Given the description of an element on the screen output the (x, y) to click on. 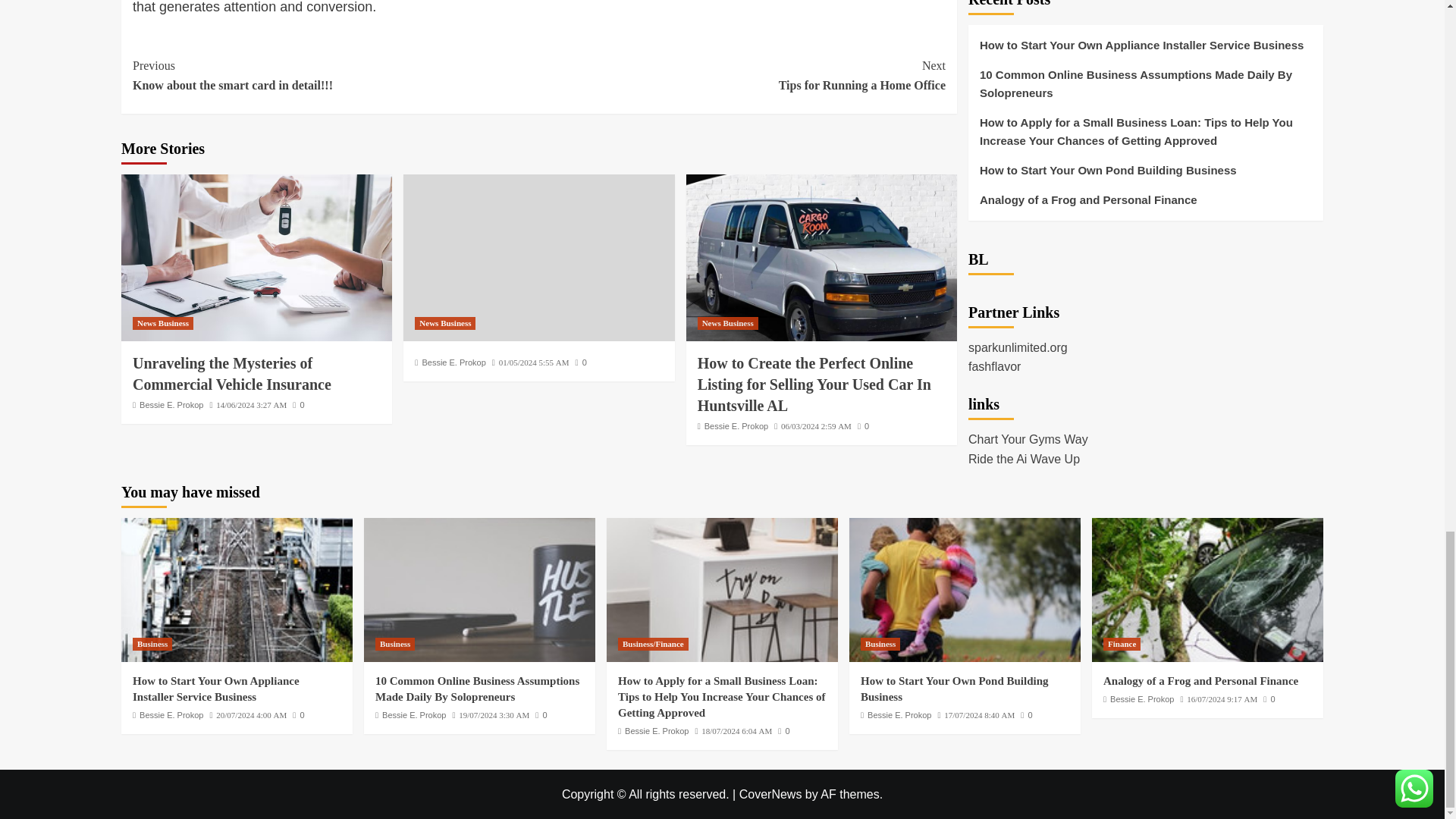
News Business (741, 75)
Bessie E. Prokop (162, 323)
News Business (335, 75)
Unraveling the Mysteries of Commercial Vehicle Insurance (171, 404)
Unraveling the Mysteries of Commercial Vehicle Insurance (445, 323)
0 (255, 257)
